Given the description of an element on the screen output the (x, y) to click on. 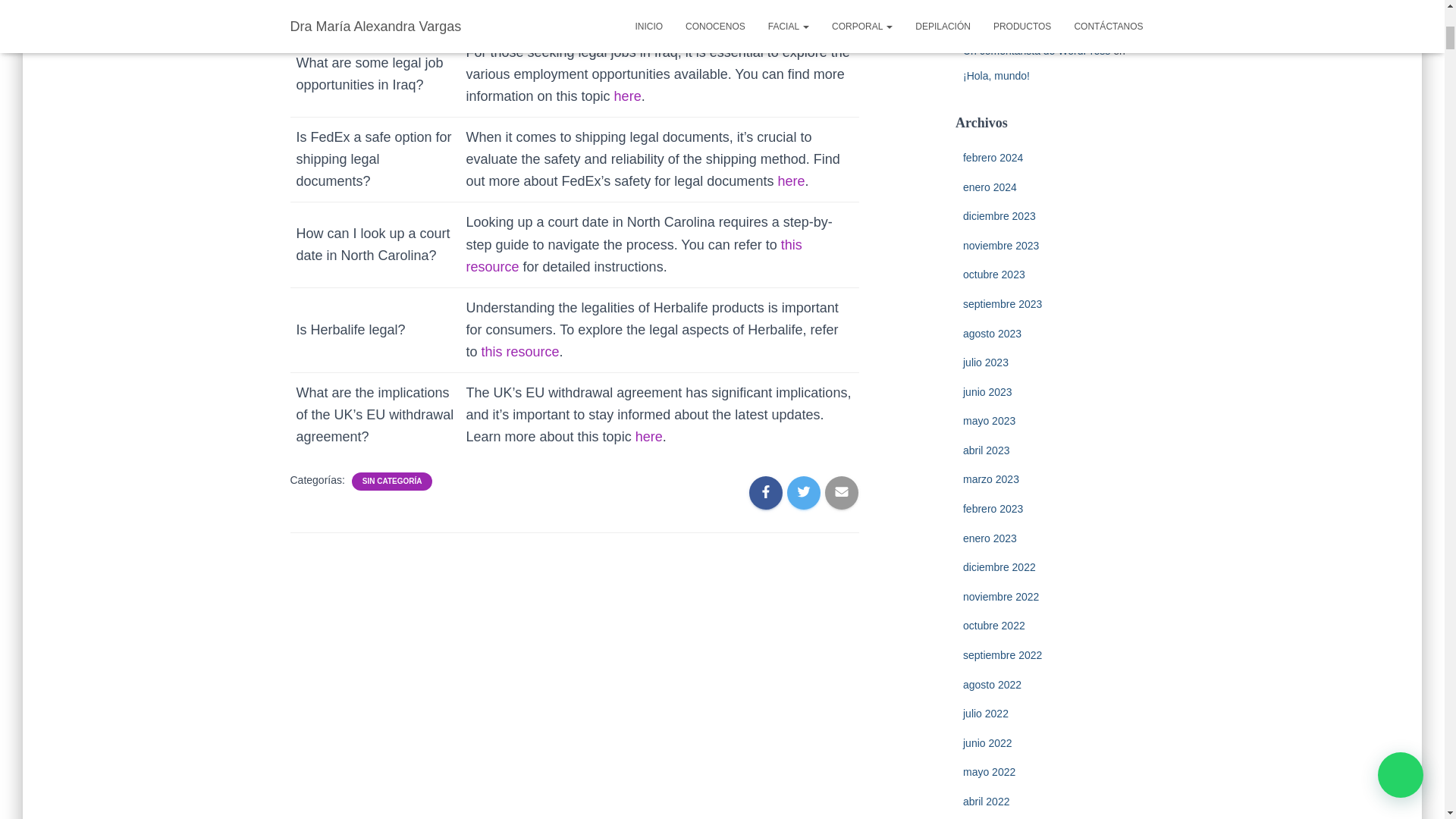
here (791, 181)
here (648, 436)
this resource (633, 255)
this resource (603, 11)
this resource (520, 351)
here (628, 96)
